Given the description of an element on the screen output the (x, y) to click on. 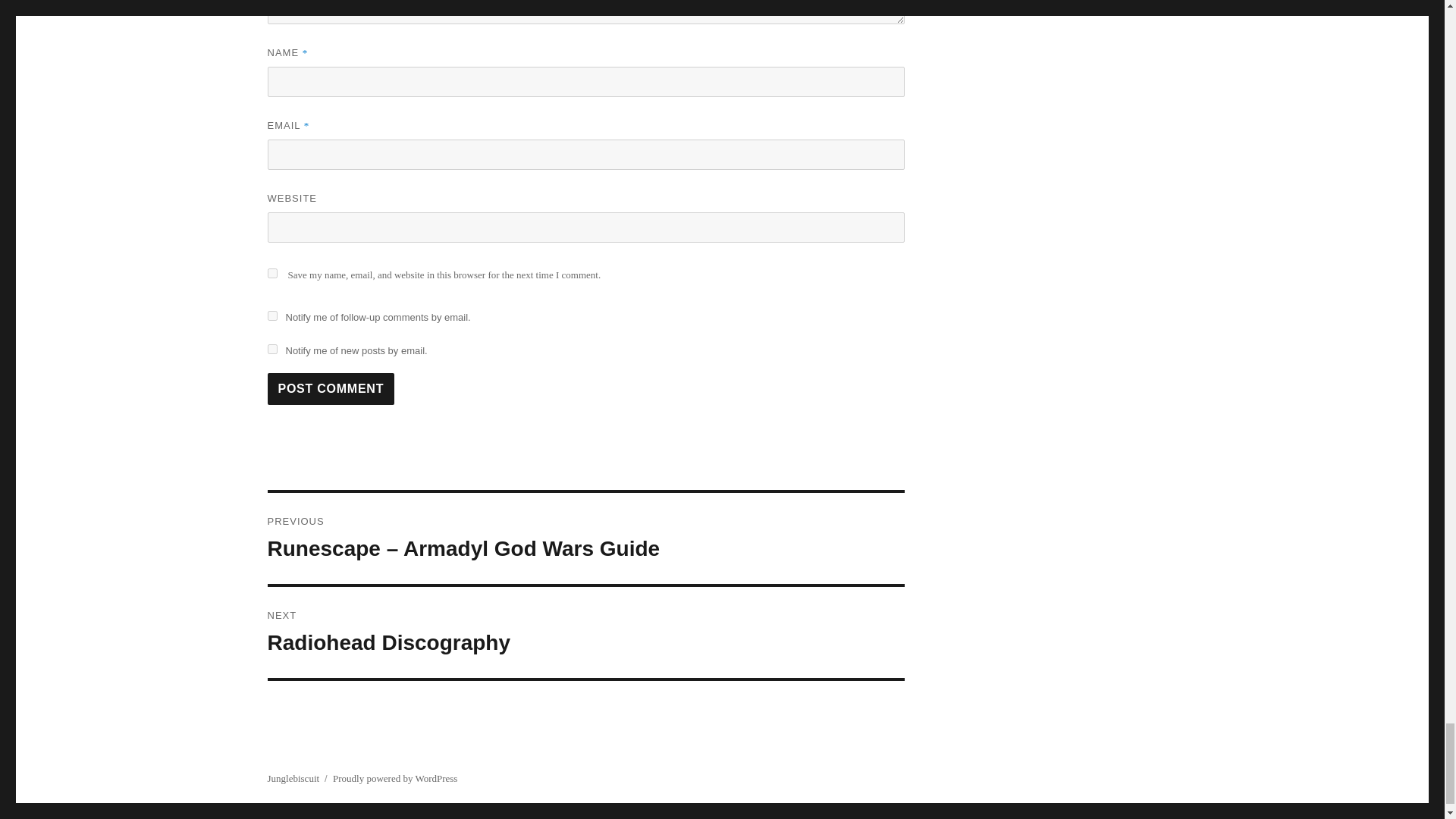
Post Comment (330, 388)
yes (271, 273)
Post Comment (330, 388)
subscribe (271, 316)
subscribe (585, 632)
